Given the description of an element on the screen output the (x, y) to click on. 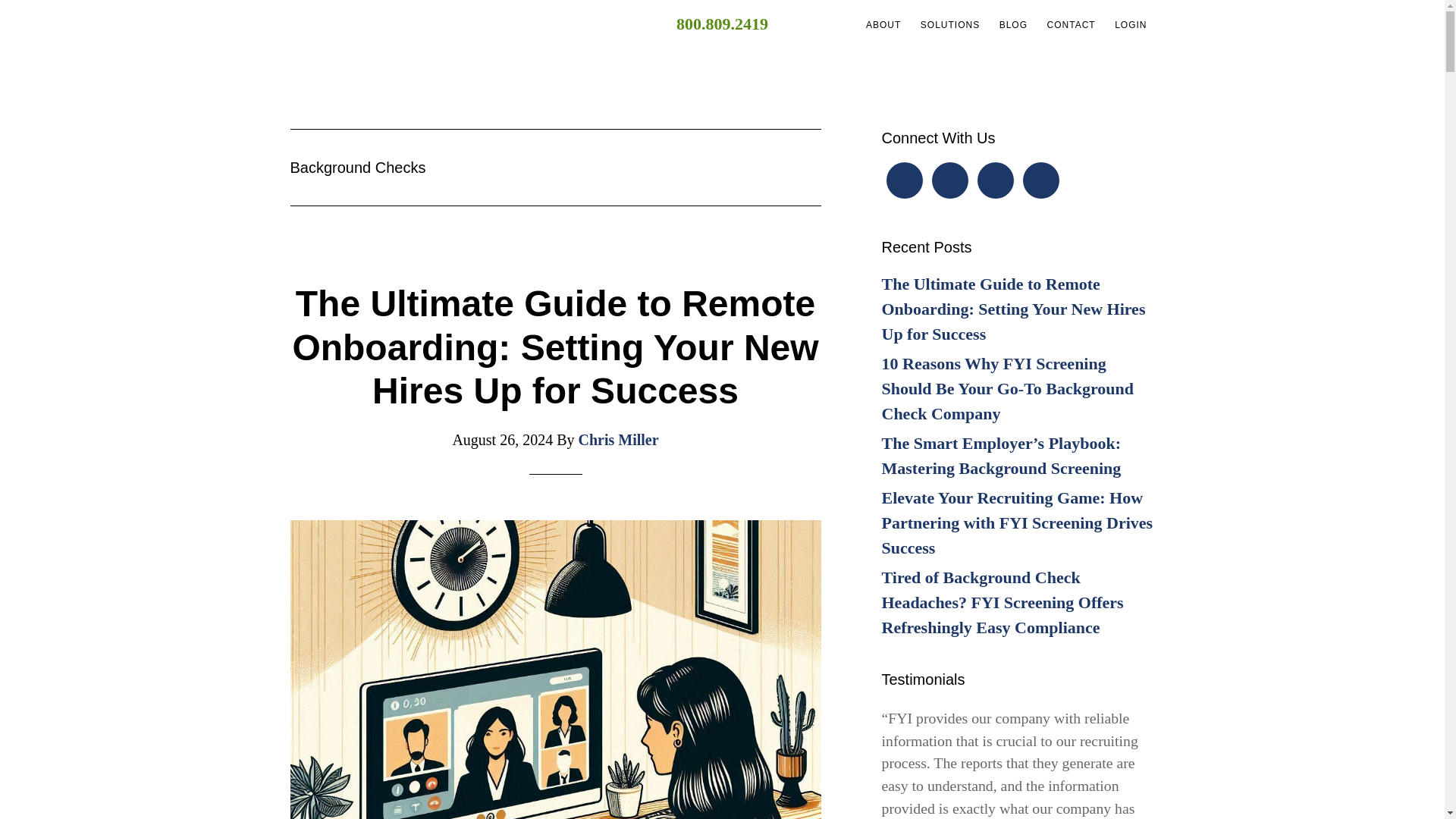
LOGIN (1130, 24)
FYI EMPLOYEE BACKGROUND SCREENING (425, 26)
SOLUTIONS (949, 24)
CONTACT (1071, 24)
ABOUT (883, 24)
Chris Miller (618, 439)
800.809.2419 (722, 23)
